Given the description of an element on the screen output the (x, y) to click on. 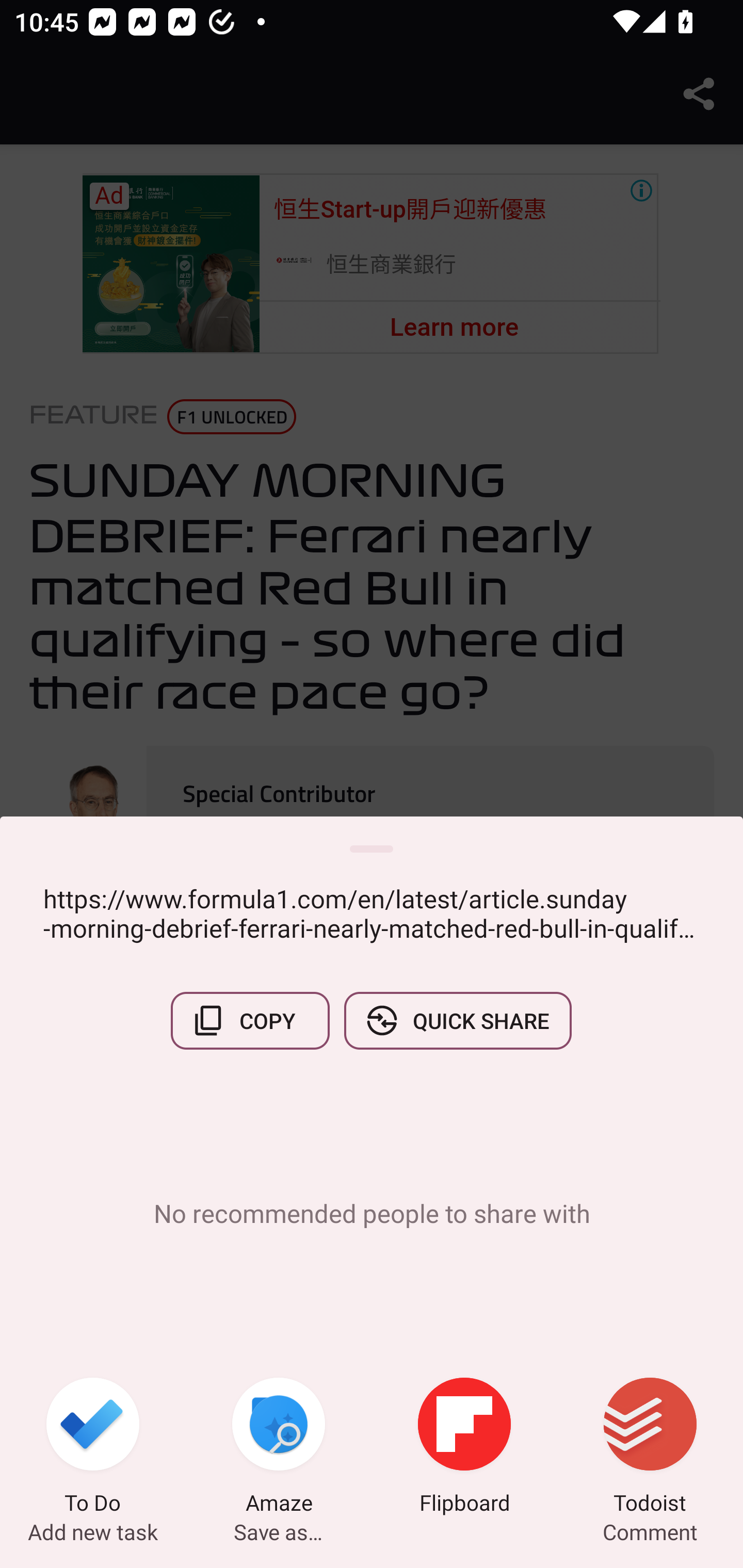
COPY (249, 1020)
QUICK SHARE (457, 1020)
To Do Add new task (92, 1448)
Amaze Save as… (278, 1448)
Flipboard (464, 1448)
Todoist Comment (650, 1448)
